Given the description of an element on the screen output the (x, y) to click on. 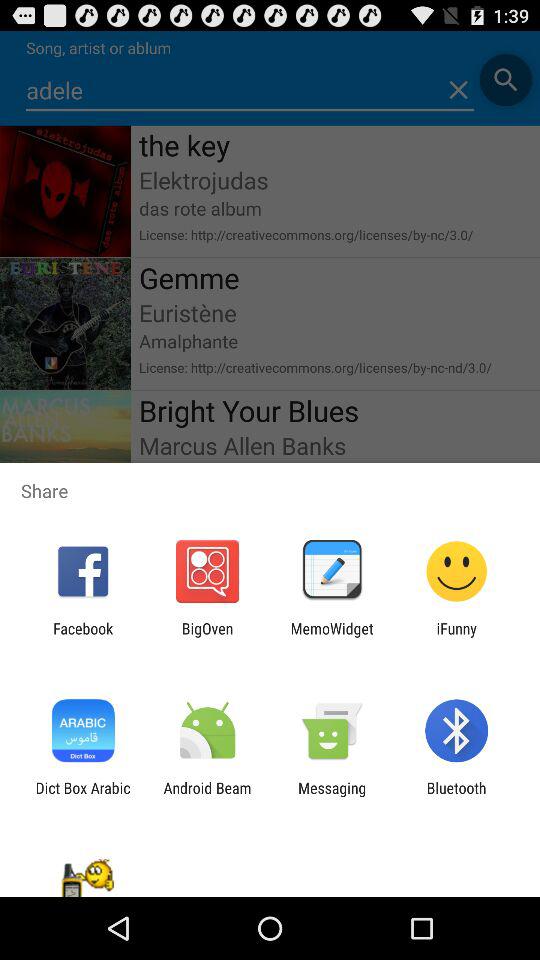
turn off the memowidget app (331, 637)
